Given the description of an element on the screen output the (x, y) to click on. 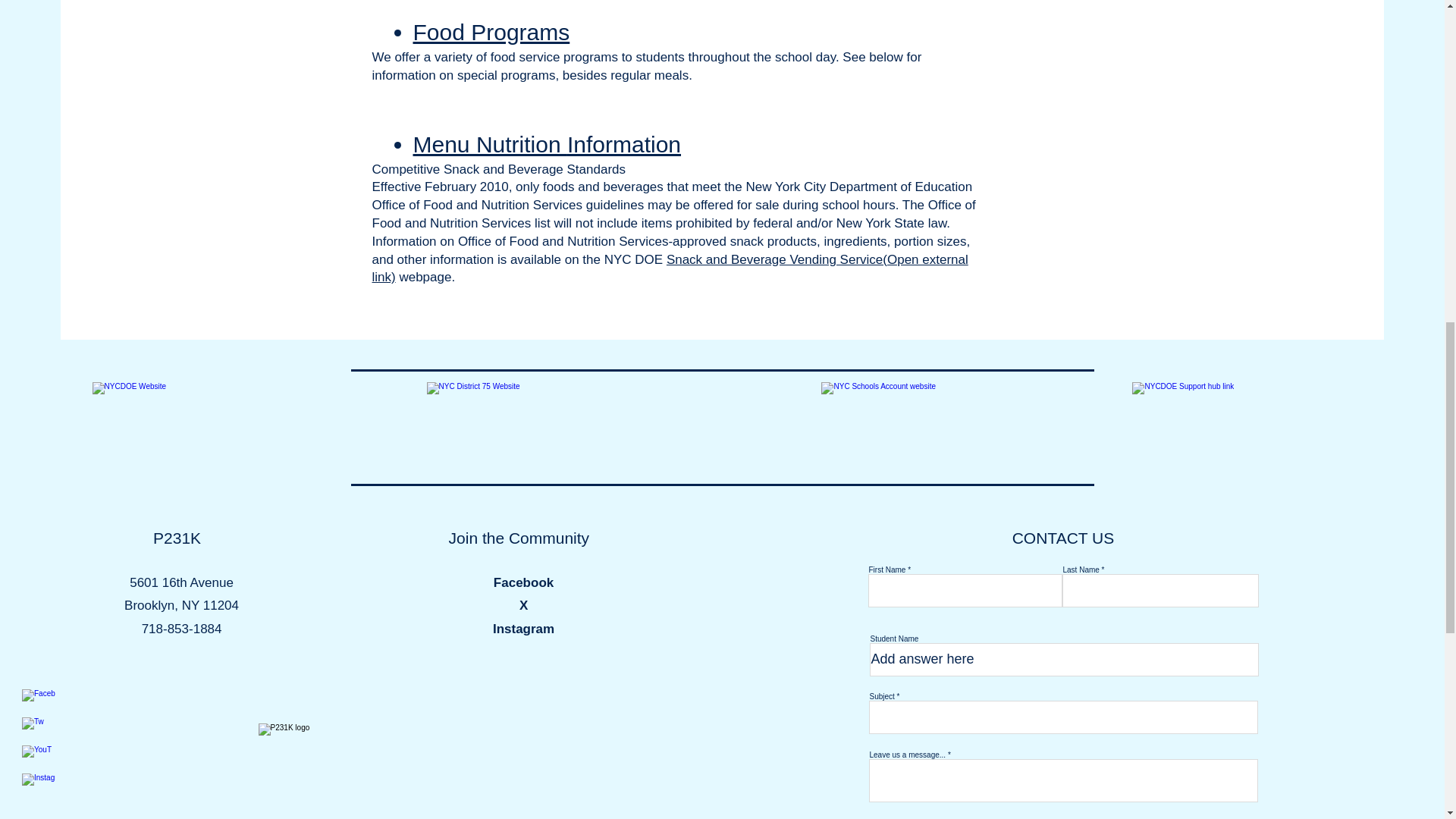
Facebook (523, 582)
P231K (176, 538)
nyc schools account.png (910, 423)
Menu Nutrition (489, 144)
district 75.png (515, 423)
Information (624, 144)
Food Programs (490, 32)
nyc support hub.png (1221, 423)
Instagram (523, 628)
